Given the description of an element on the screen output the (x, y) to click on. 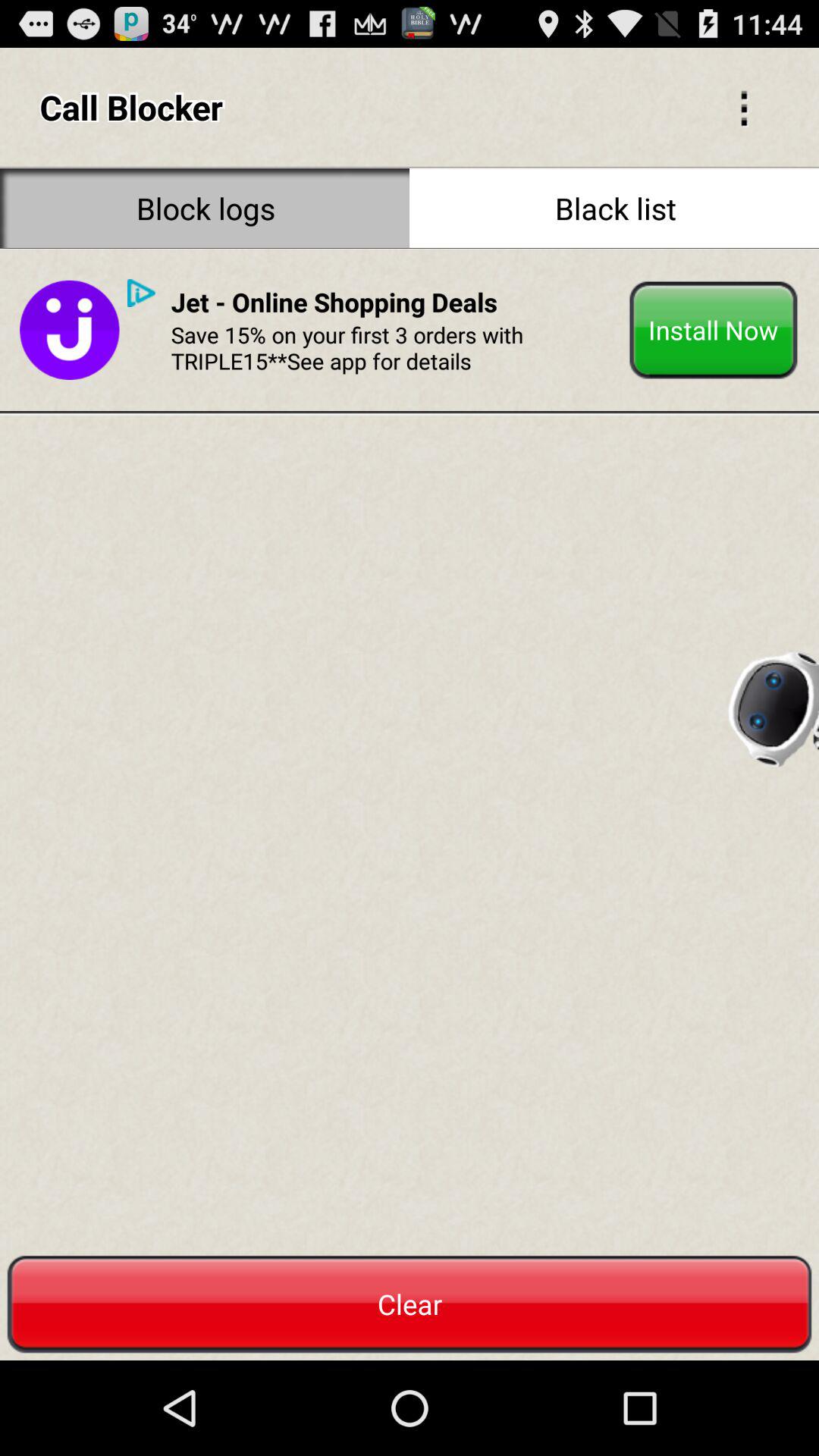
flip until jet online shopping app (334, 301)
